Given the description of an element on the screen output the (x, y) to click on. 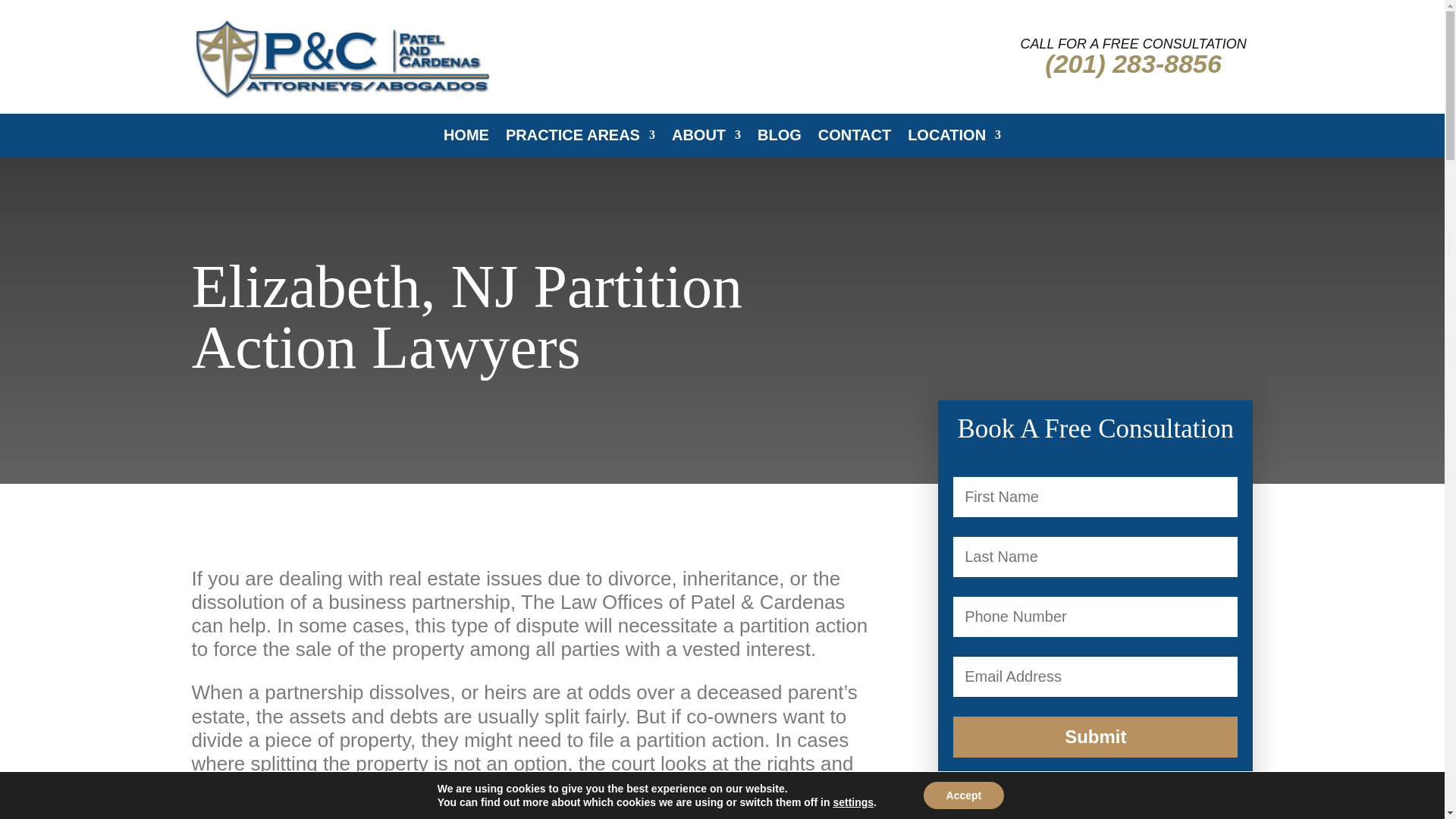
PRACTICE AREAS (580, 142)
Submit (1095, 736)
LOCATION (954, 142)
p-c-logo (342, 58)
ABOUT (706, 142)
HOME (466, 142)
CONTACT (854, 142)
BLOG (779, 142)
